Given the description of an element on the screen output the (x, y) to click on. 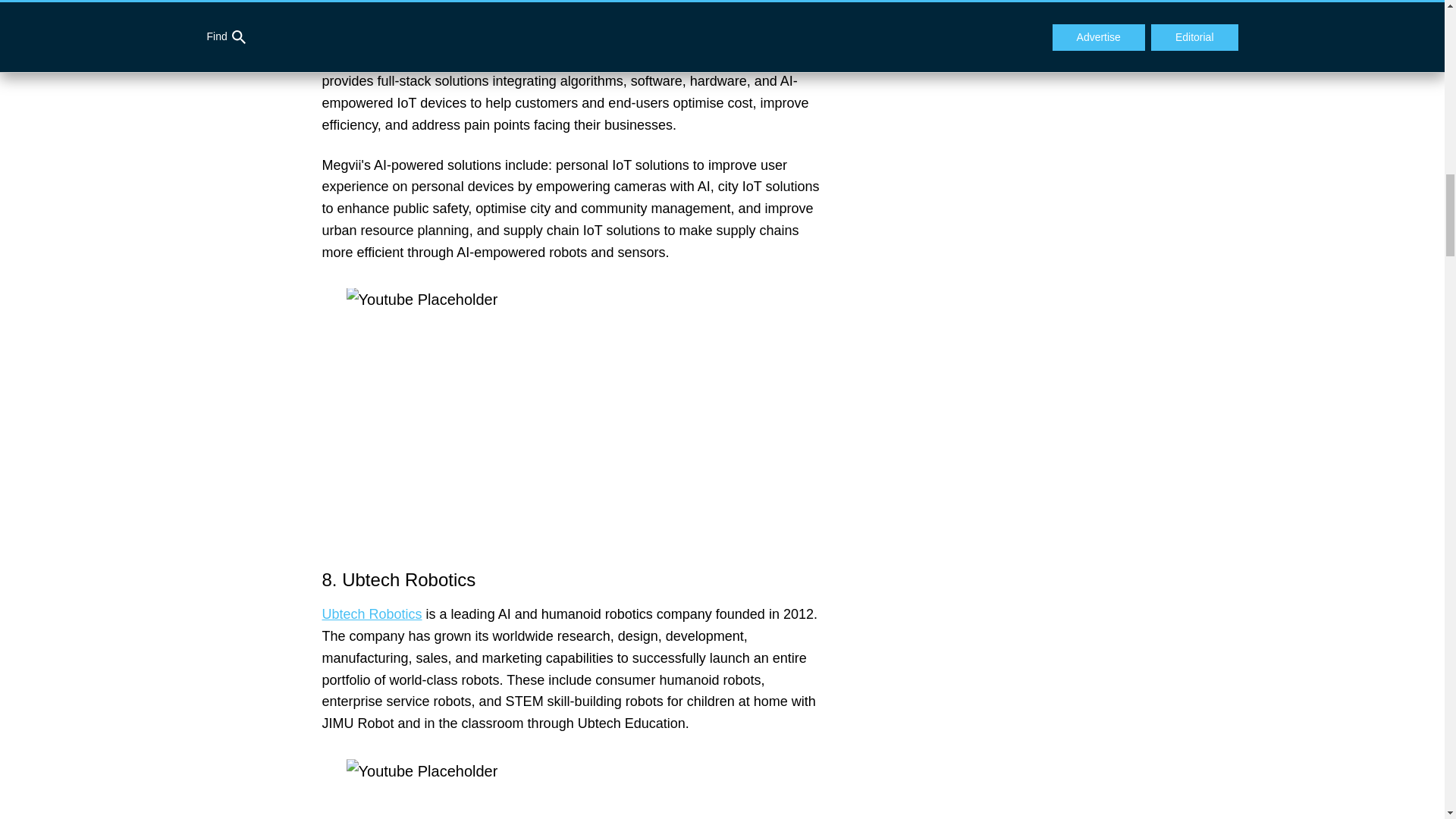
Megvii (467, 58)
Ubtech Robotics (371, 613)
